Given the description of an element on the screen output the (x, y) to click on. 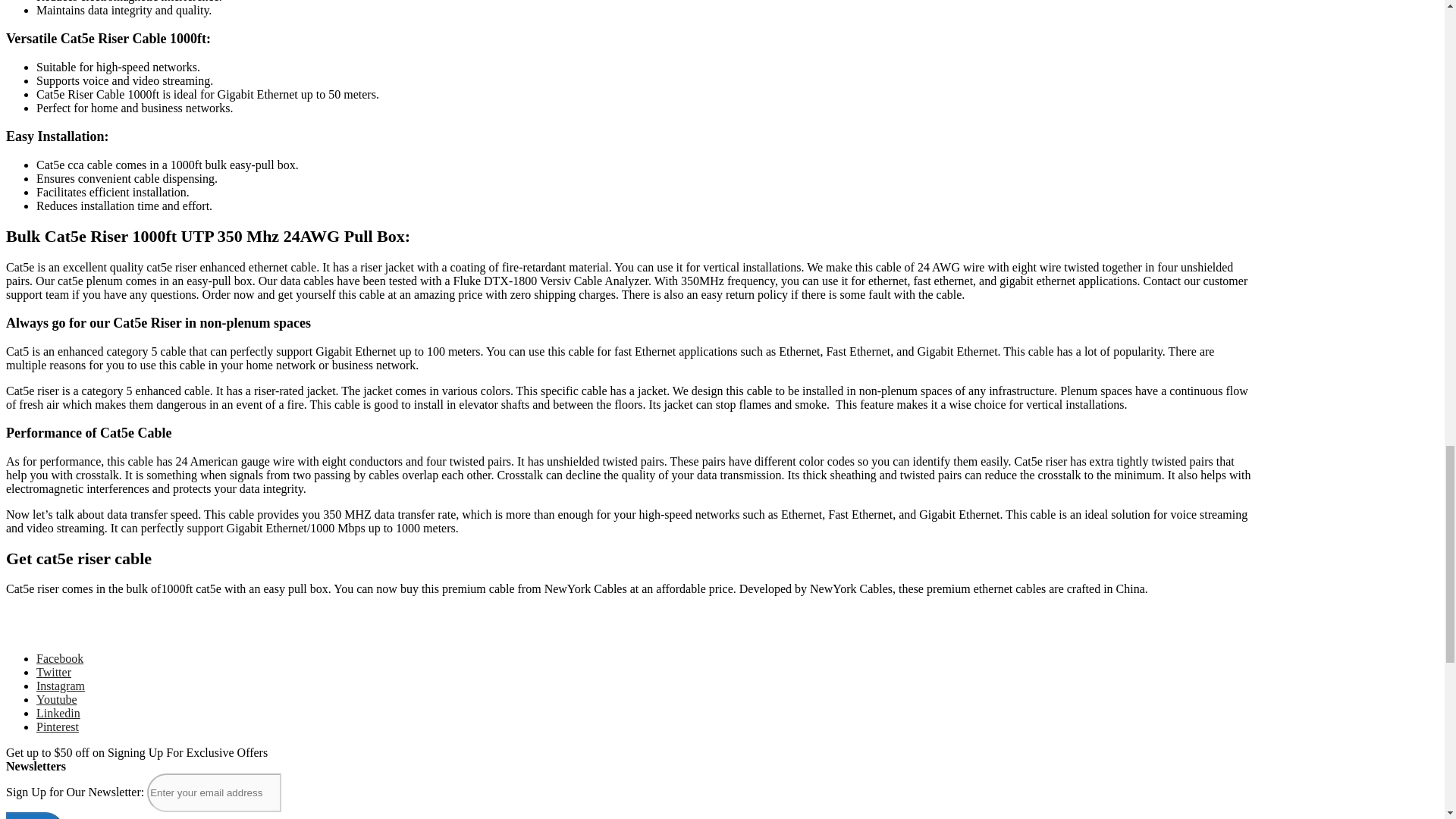
Twitter (53, 671)
Linkedin (58, 712)
Facebook (59, 658)
Subscribe (33, 815)
Youtube (56, 698)
Pinterest (57, 726)
Instagram (60, 685)
